Given the description of an element on the screen output the (x, y) to click on. 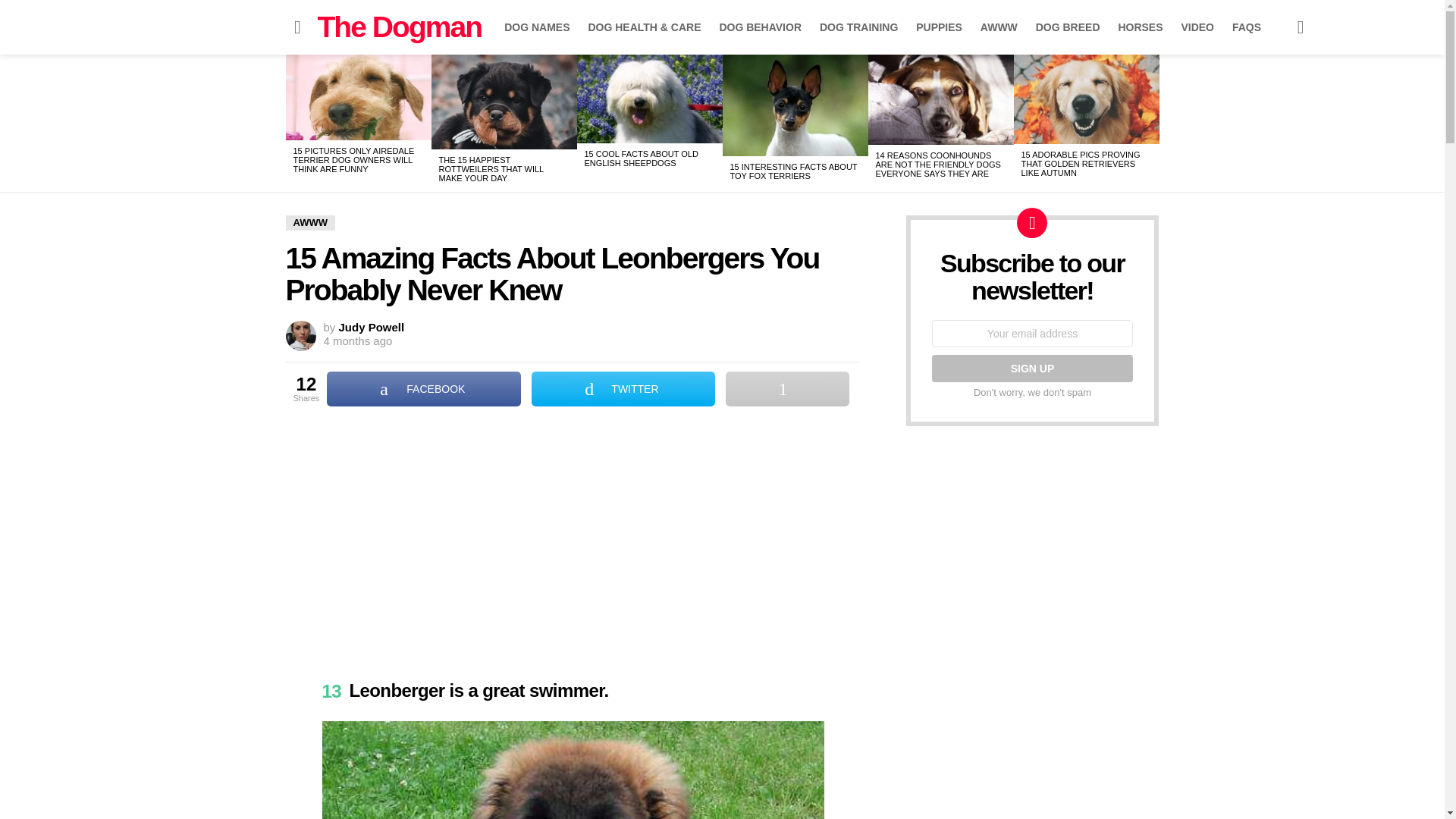
DOG BREED (1067, 26)
DOG BEHAVIOR (760, 26)
AWWW (309, 222)
15 INTERESTING FACTS ABOUT TOY FOX TERRIERS (793, 171)
15 Interesting Facts About Toy Fox Terriers (794, 105)
Share on More Button (787, 388)
Judy Powell (371, 327)
Menu (296, 27)
VIDEO (1197, 26)
Share on Facebook (423, 388)
Share on Twitter (622, 388)
The 15 Happiest Rottweilers That Will Make Your Day (503, 101)
